Given the description of an element on the screen output the (x, y) to click on. 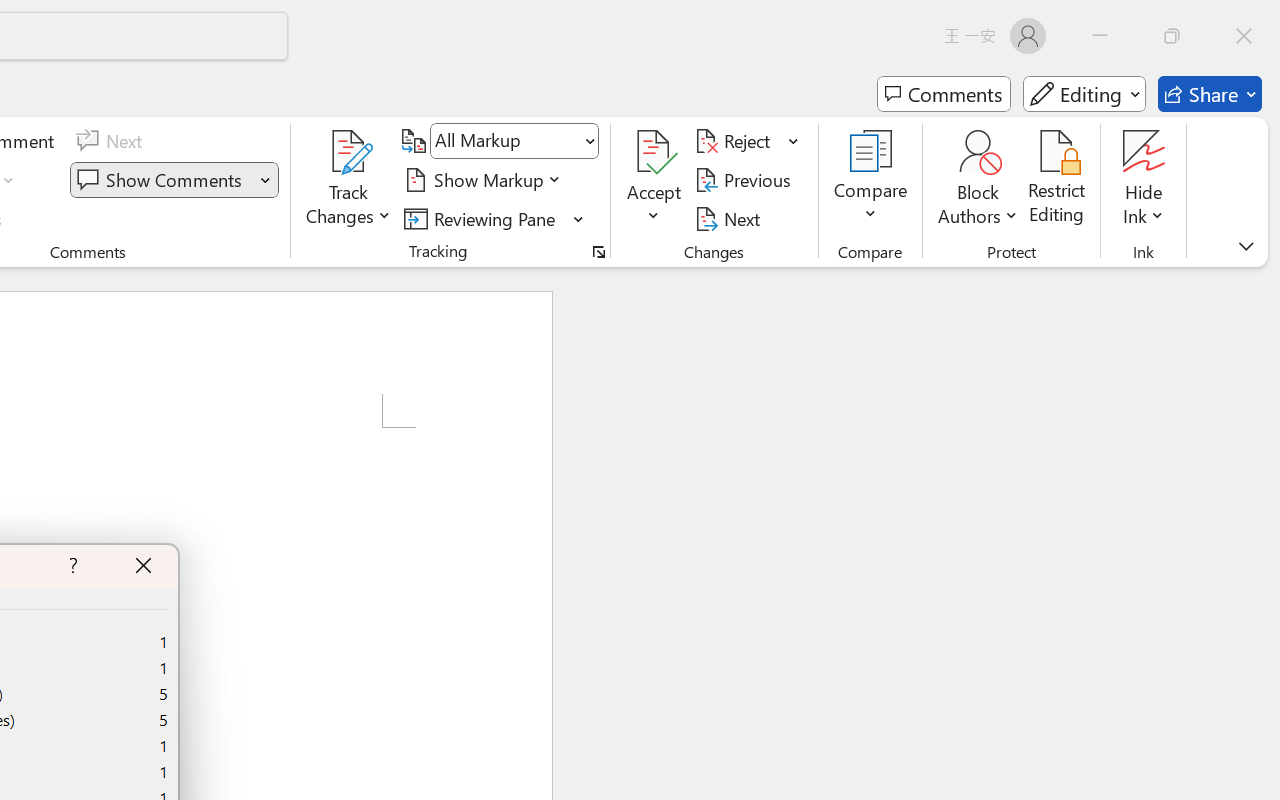
Display for Review (514, 141)
Change Tracking Options... (598, 252)
